Given the description of an element on the screen output the (x, y) to click on. 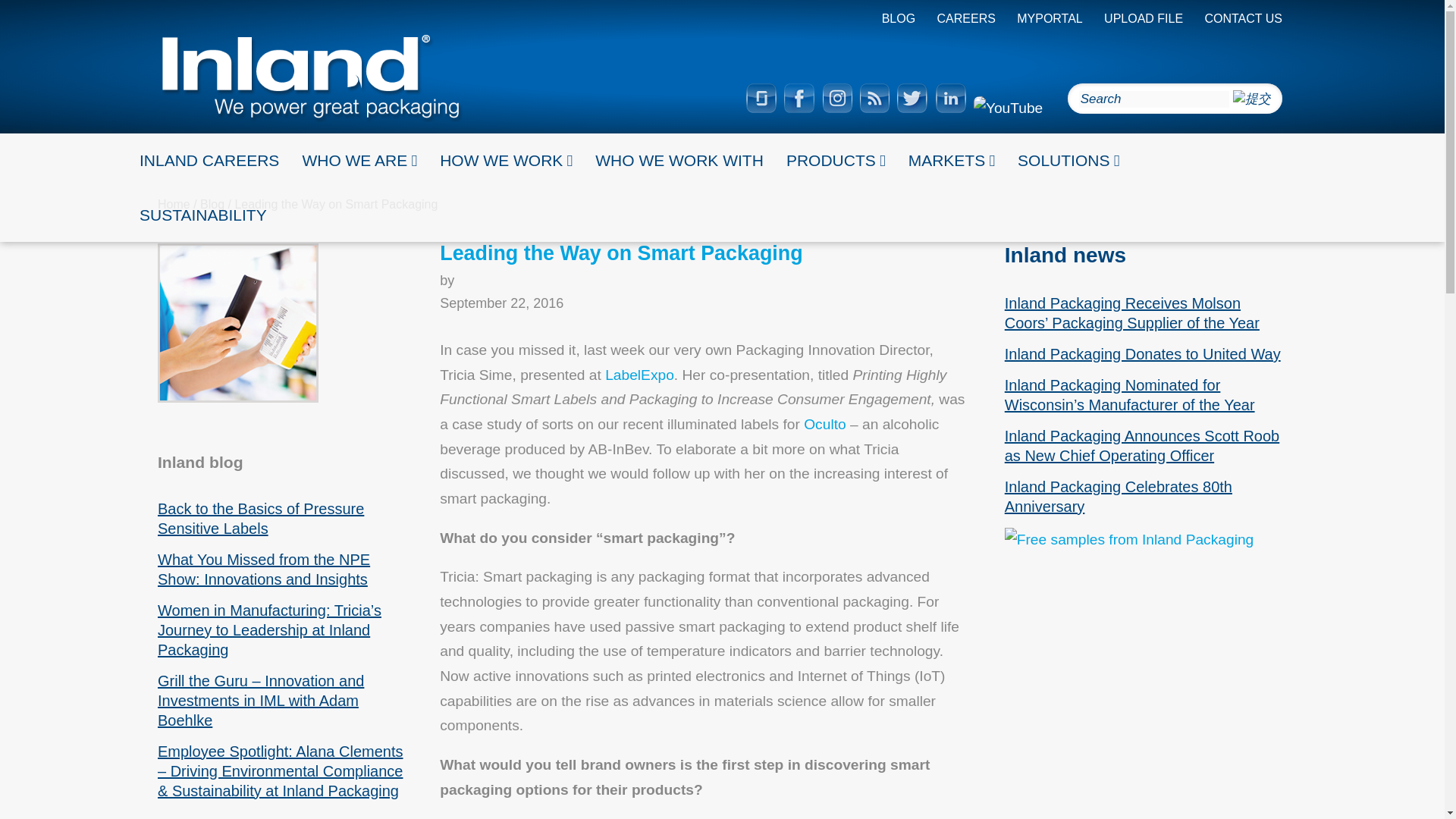
BLOG (898, 18)
MYPORTAL (1049, 18)
CAREERS (966, 18)
WHO WE ARE (358, 160)
Inland news (1064, 254)
CONTACT US (1243, 18)
WHO WE WORK WITH (678, 160)
HOW WE WORK (505, 160)
MARKETS (951, 160)
UPLOAD FILE (1142, 18)
